Given the description of an element on the screen output the (x, y) to click on. 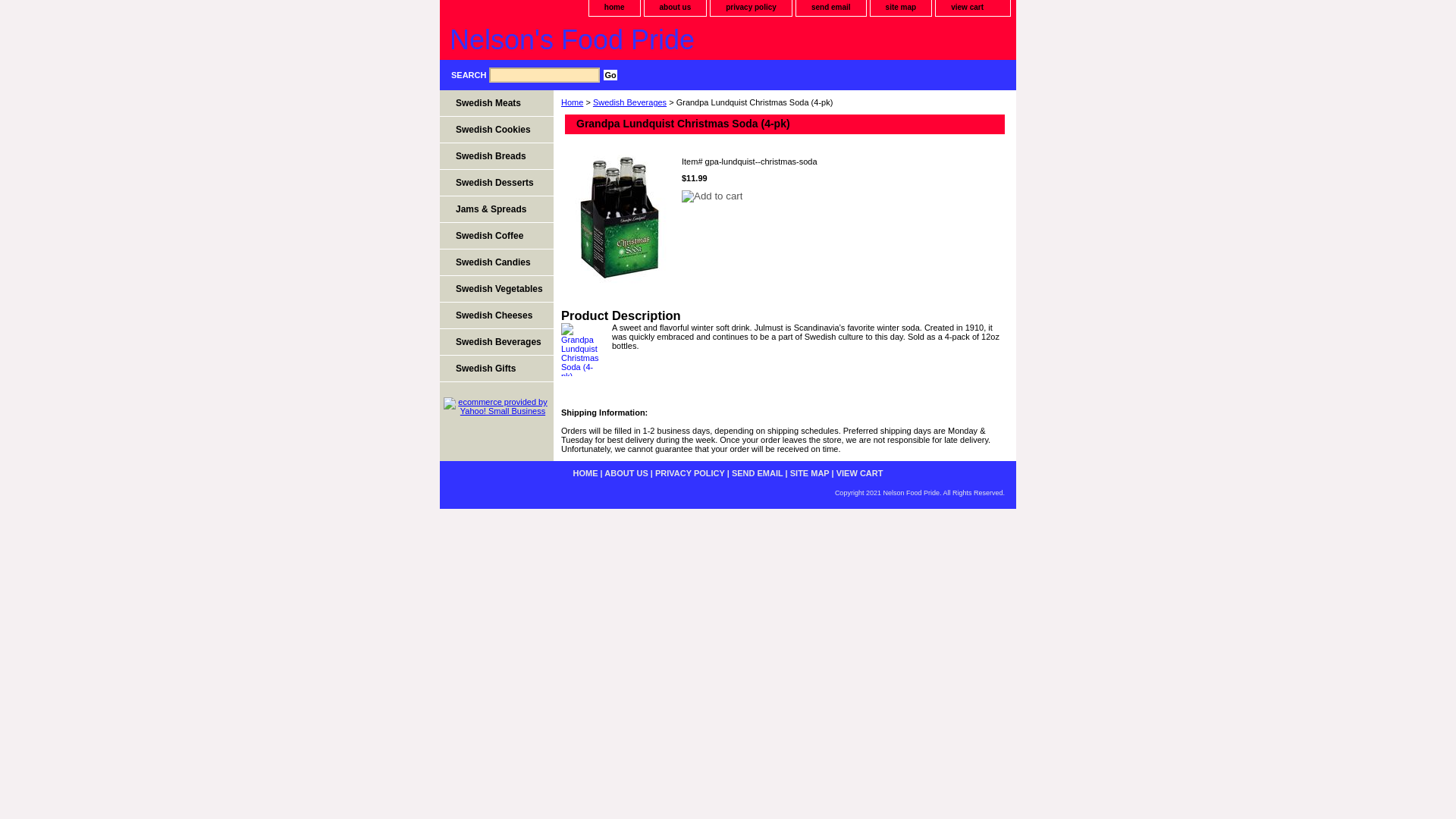
Swedish Cookies (496, 130)
about us (675, 7)
Go (609, 74)
Swedish Coffee (496, 235)
Swedish Beverages (629, 102)
site map (900, 7)
VIEW CART (859, 472)
Swedish Beverages (496, 342)
Swedish Meats (496, 103)
Add to cart (711, 196)
Swedish Desserts (496, 182)
Swedish Cheeses (496, 315)
Swedish Breads (496, 156)
SITE MAP (809, 472)
SEND EMAIL (757, 472)
